Given the description of an element on the screen output the (x, y) to click on. 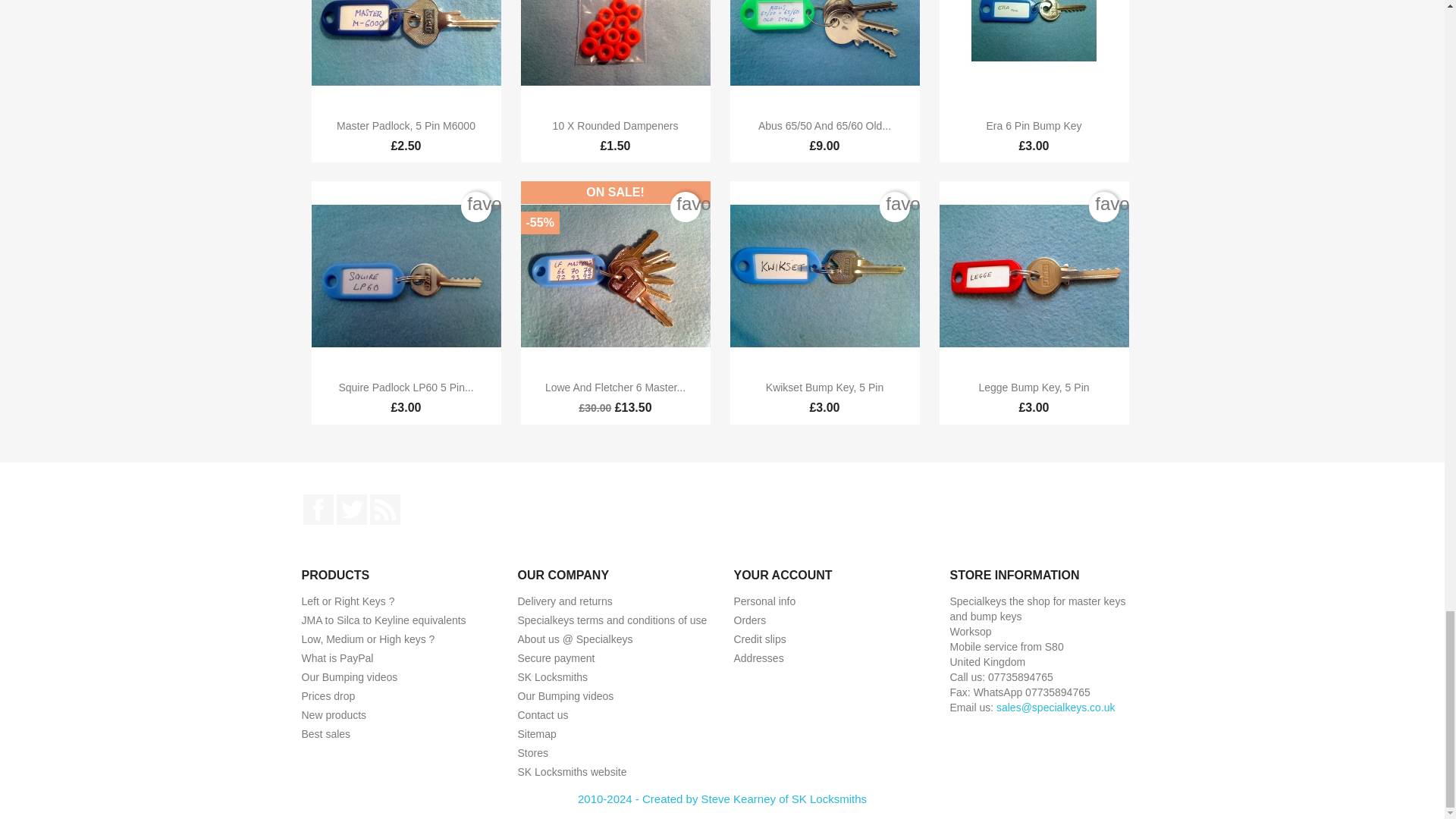
JMA to Silca to Keyline key blanks (383, 620)
Our specialkeys terms and conditions of use (611, 620)
Our terms and conditions of delivery (563, 601)
Our best sales (325, 734)
How to understand bump keys and their heights (368, 639)
Our new products (333, 715)
Our special products (328, 695)
key profiles and how to tell them apart (347, 601)
Buy securely with PayPal, all your details are protected. (337, 657)
